Given the description of an element on the screen output the (x, y) to click on. 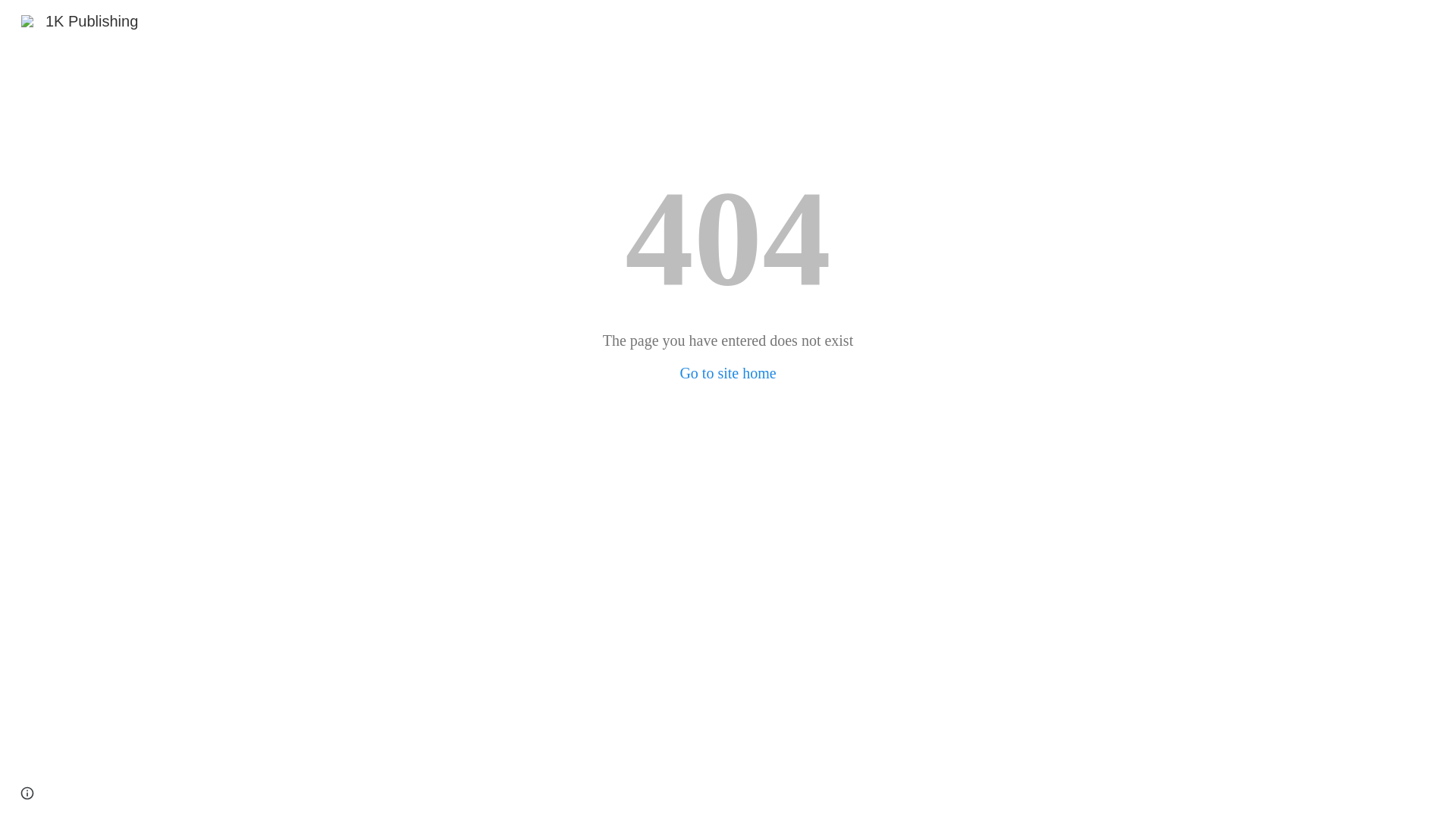
Go to site home Element type: text (727, 372)
1K Publishing Element type: text (79, 19)
